Given the description of an element on the screen output the (x, y) to click on. 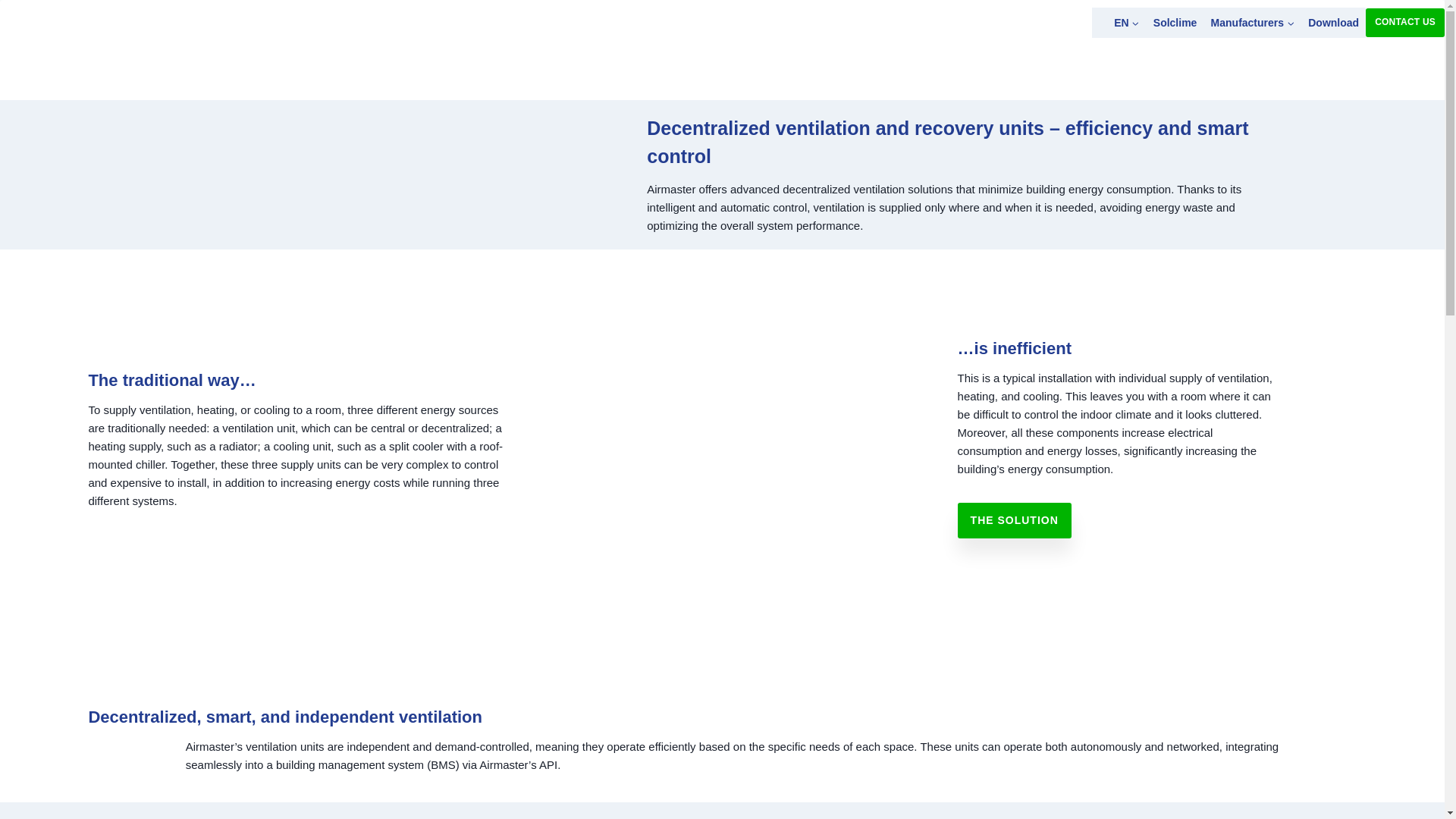
Solclime (1175, 21)
Download (1333, 21)
THE SOLUTION (1014, 519)
Manufacturers (1252, 21)
EN (1119, 21)
